Given the description of an element on the screen output the (x, y) to click on. 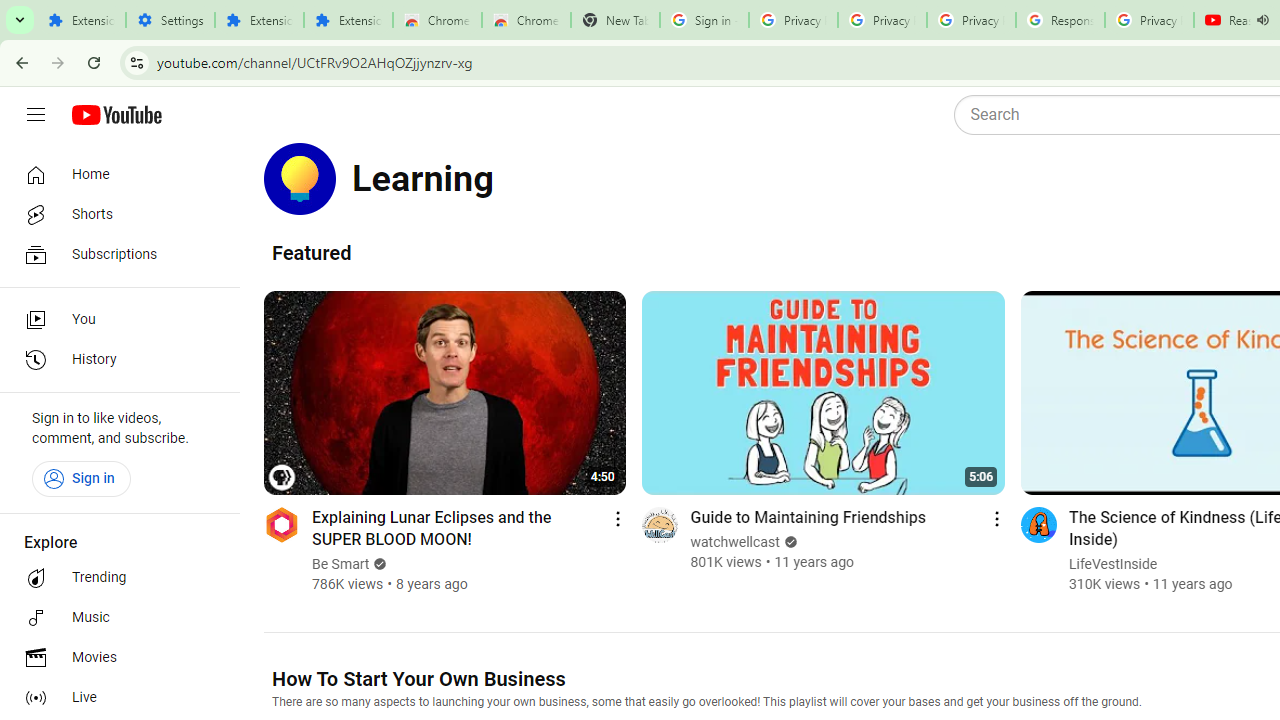
LifeVestInside (1112, 564)
Home (113, 174)
How To Start Your Own Business (418, 677)
Live (113, 697)
Guide (35, 115)
YouTube Home (116, 115)
watchwellcast (735, 542)
Sign in - Google Accounts (704, 20)
Settings (170, 20)
Chrome Web Store - Themes (526, 20)
Extensions (347, 20)
